Given the description of an element on the screen output the (x, y) to click on. 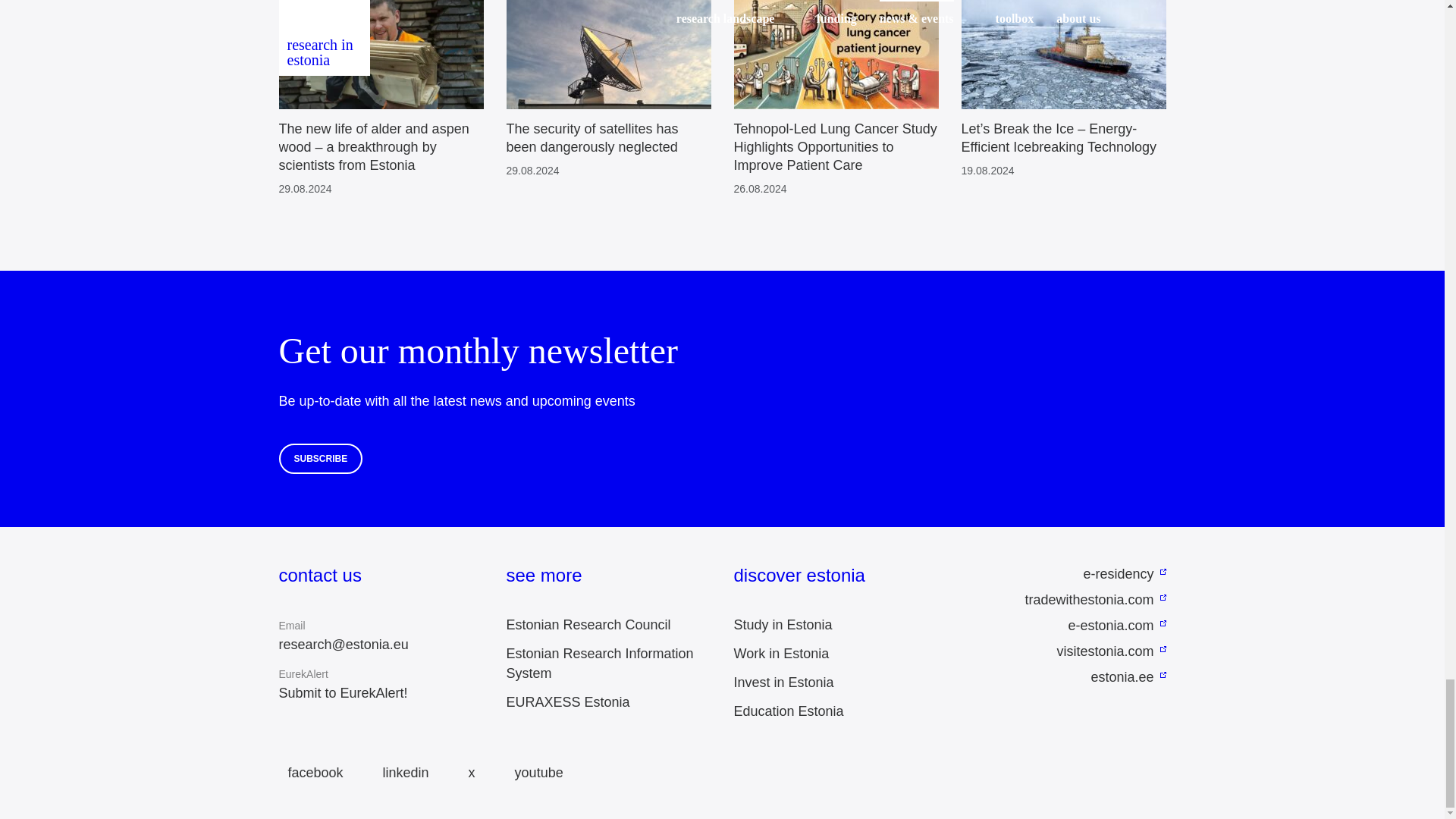
EURAXESS Estonia (568, 702)
Facebook (311, 772)
Youtube (534, 772)
Estonian Research Information System (600, 663)
LinkedIn (401, 772)
Estonian Research Council (588, 624)
SUBSCRIBE (320, 458)
x (468, 772)
